Given the description of an element on the screen output the (x, y) to click on. 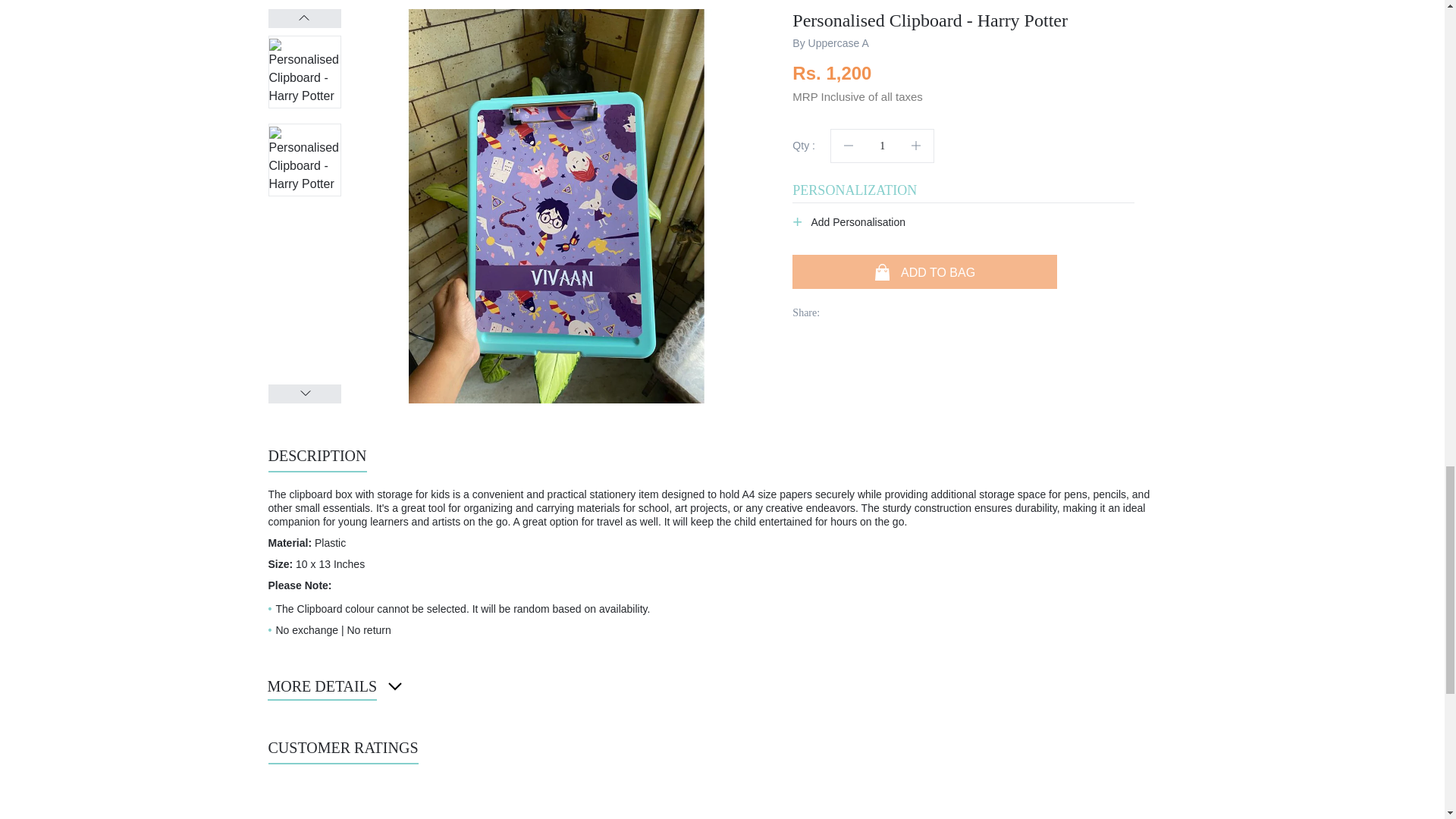
1 (882, 145)
Uppercase A (838, 42)
